Given the description of an element on the screen output the (x, y) to click on. 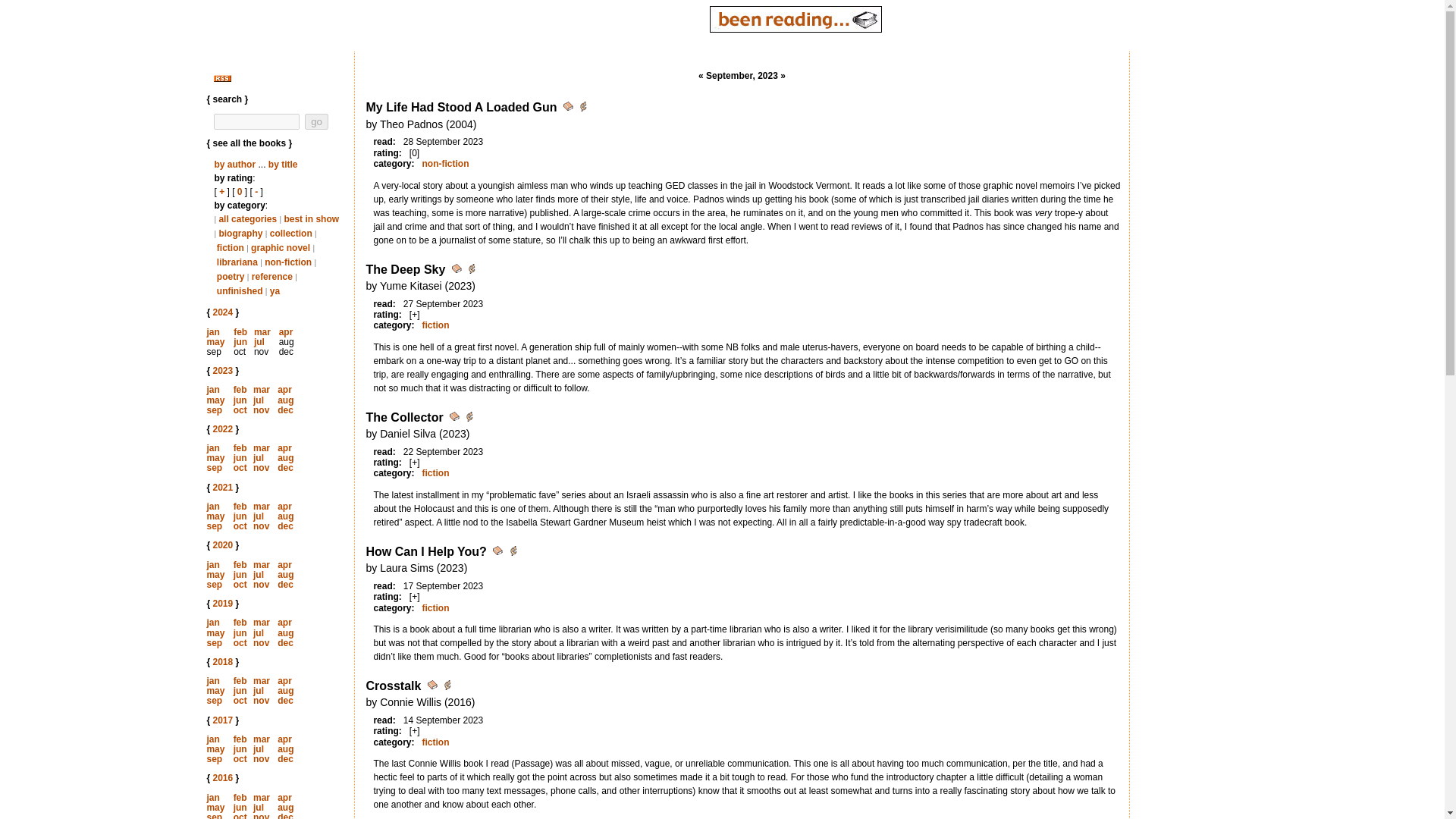
may (215, 398)
link to this entry (569, 108)
collection (291, 233)
aug (286, 398)
librariana (236, 262)
fiction (230, 247)
go (316, 121)
mar (261, 389)
graphic novel (280, 247)
buy  Crosstalk from indiebound (447, 687)
go (316, 121)
jun (239, 398)
jan (212, 389)
buy  My Life Had Stood A Loaded Gun from indiebound (582, 108)
all categories (247, 218)
